Given the description of an element on the screen output the (x, y) to click on. 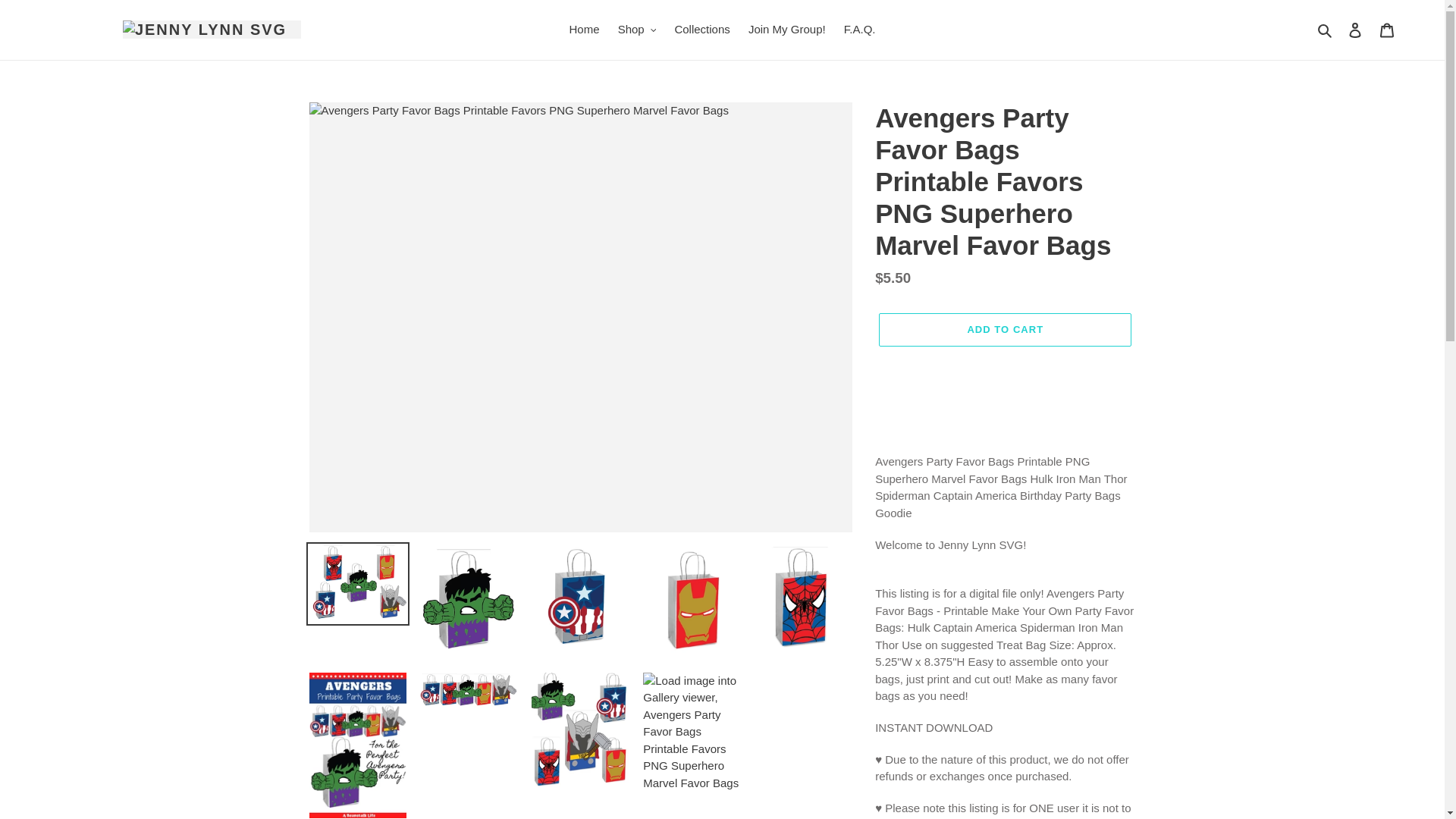
ADD TO CART (1005, 329)
Join My Group! (786, 29)
Collections (701, 29)
Shop (636, 29)
F.A.Q. (859, 29)
Cart (1387, 29)
Home (583, 29)
Log in (1355, 29)
Search (1326, 29)
